Given the description of an element on the screen output the (x, y) to click on. 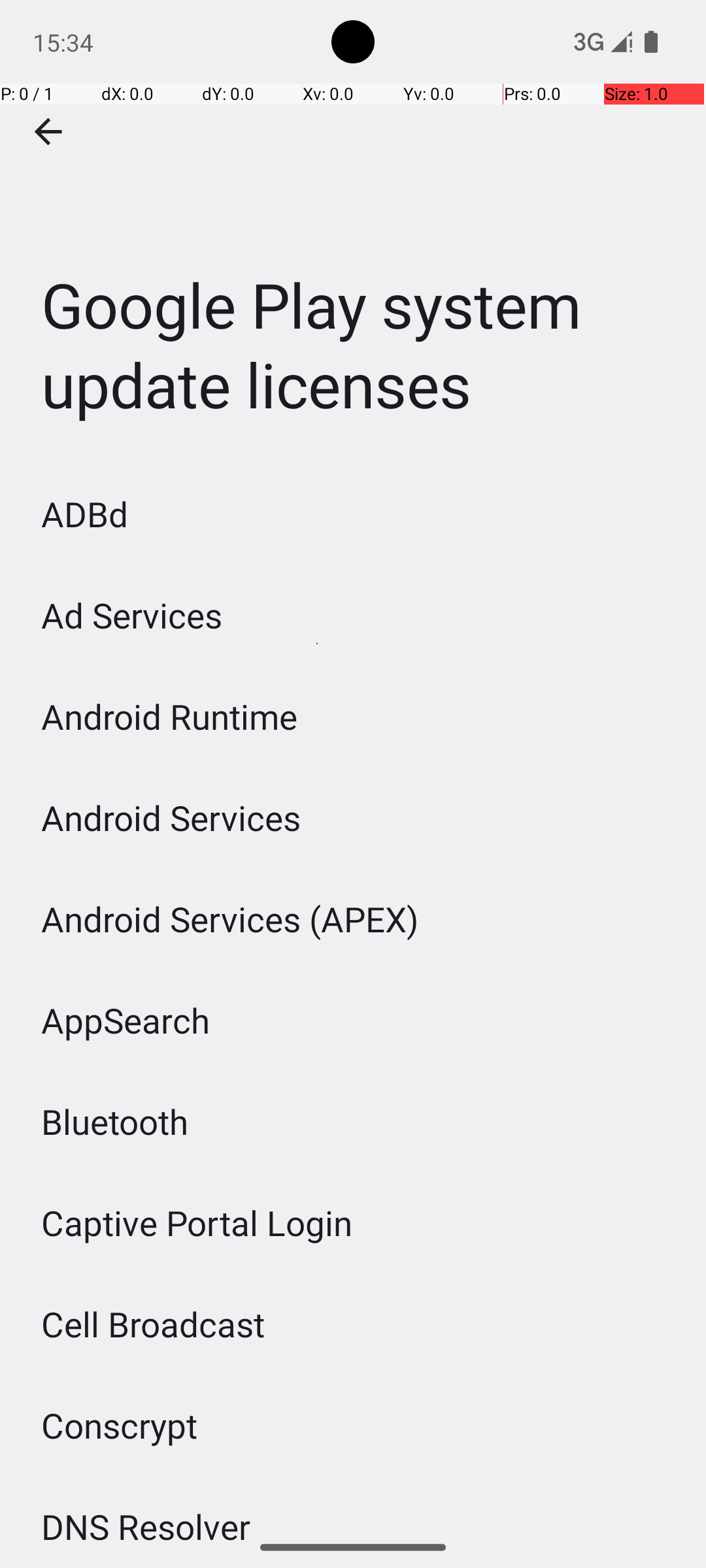
Google Play system update licenses Element type: android.widget.FrameLayout (353, 231)
ADBd Element type: android.widget.TextView (84, 513)
Ad Services Element type: android.widget.TextView (131, 614)
Android Runtime Element type: android.widget.TextView (169, 716)
Android Services Element type: android.widget.TextView (170, 817)
Android Services (APEX) Element type: android.widget.TextView (229, 918)
AppSearch Element type: android.widget.TextView (125, 1019)
Bluetooth Element type: android.widget.TextView (114, 1121)
Captive Portal Login Element type: android.widget.TextView (196, 1222)
Cell Broadcast Element type: android.widget.TextView (153, 1323)
Conscrypt Element type: android.widget.TextView (119, 1425)
DNS Resolver Element type: android.widget.TextView (145, 1514)
